Given the description of an element on the screen output the (x, y) to click on. 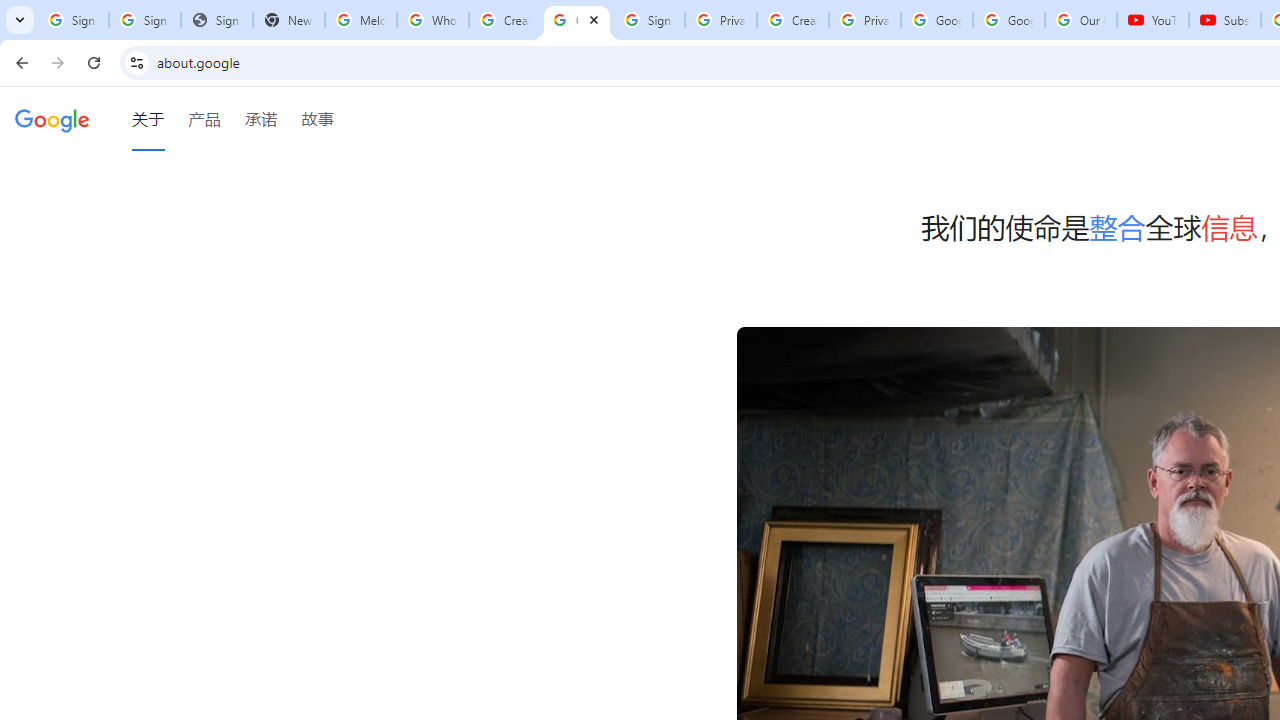
Sign in - Google Accounts (144, 20)
Reload (93, 62)
Search tabs (20, 20)
View site information (136, 62)
Create your Google Account (792, 20)
Google (52, 119)
New Tab (289, 20)
YouTube (1153, 20)
Back (19, 62)
Sign in - Google Accounts (648, 20)
